Given the description of an element on the screen output the (x, y) to click on. 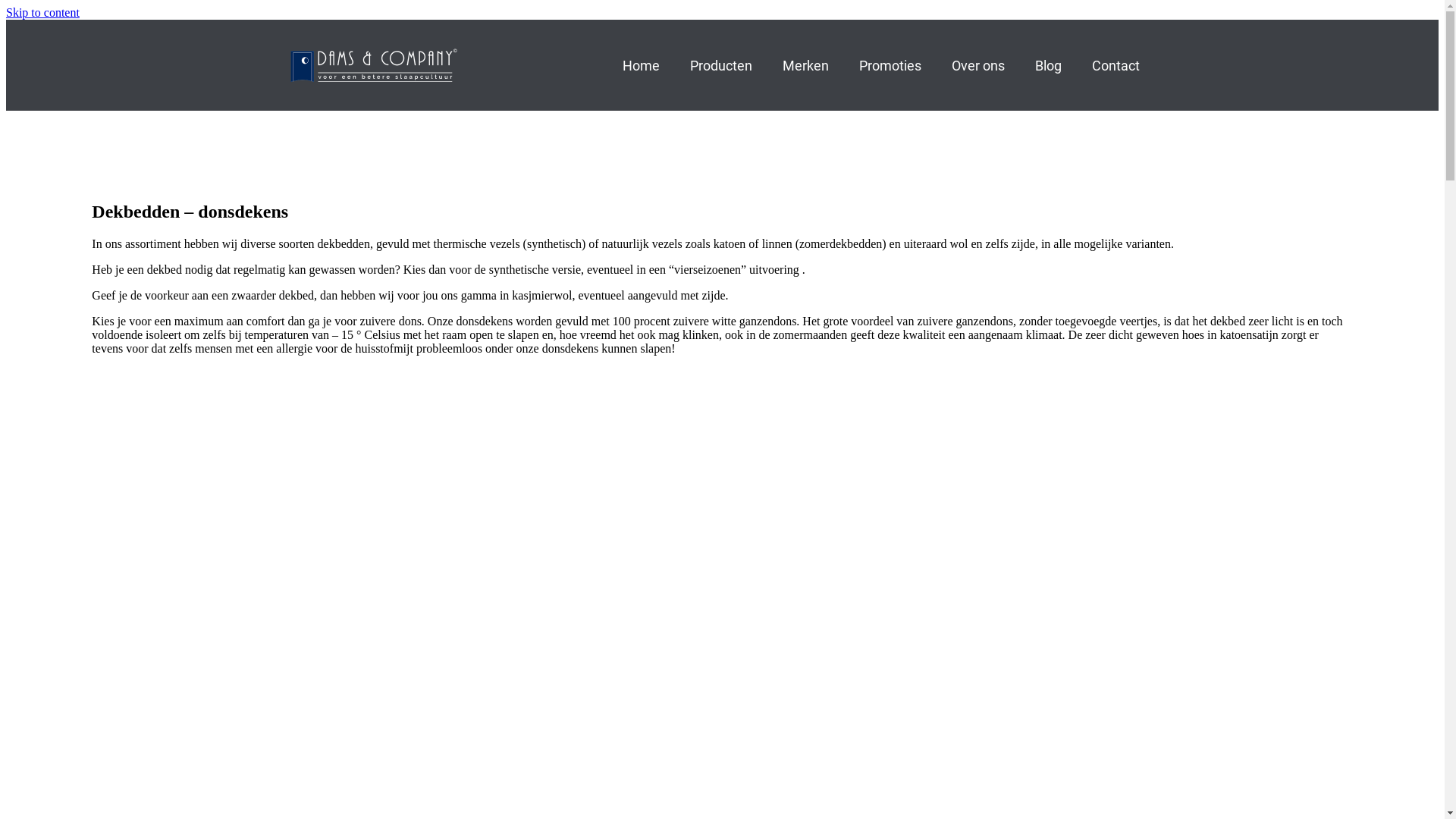
Contact Element type: text (1115, 65)
Skip to content Element type: text (42, 12)
Home Element type: text (640, 65)
Merken Element type: text (805, 65)
Blog Element type: text (1047, 65)
Promoties Element type: text (889, 65)
Producten Element type: text (720, 65)
Over ons Element type: text (977, 65)
